Given the description of an element on the screen output the (x, y) to click on. 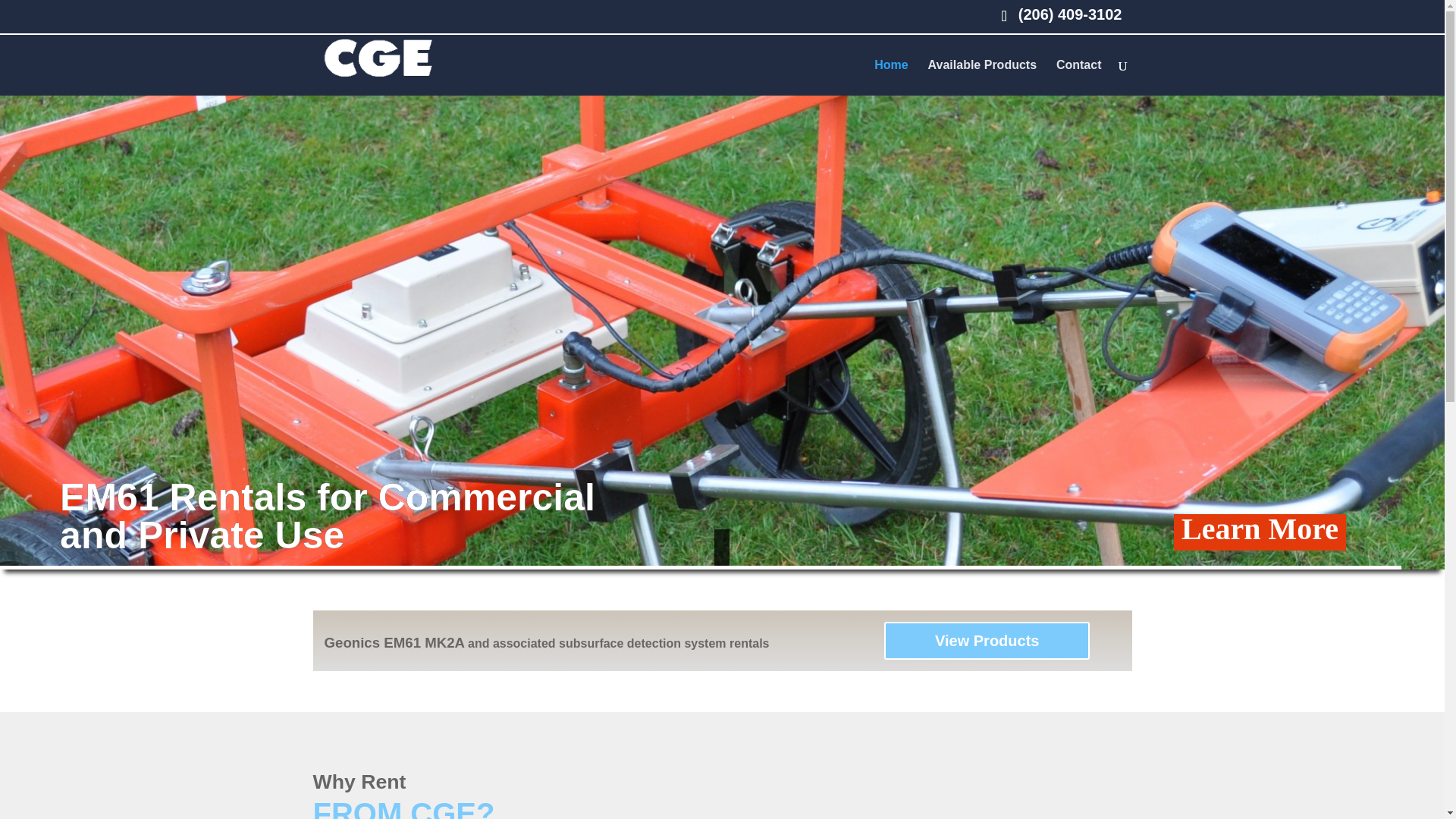
Home (891, 77)
View Products (986, 640)
Contact (1079, 77)
Available Products (982, 77)
Learn More (1259, 532)
